Given the description of an element on the screen output the (x, y) to click on. 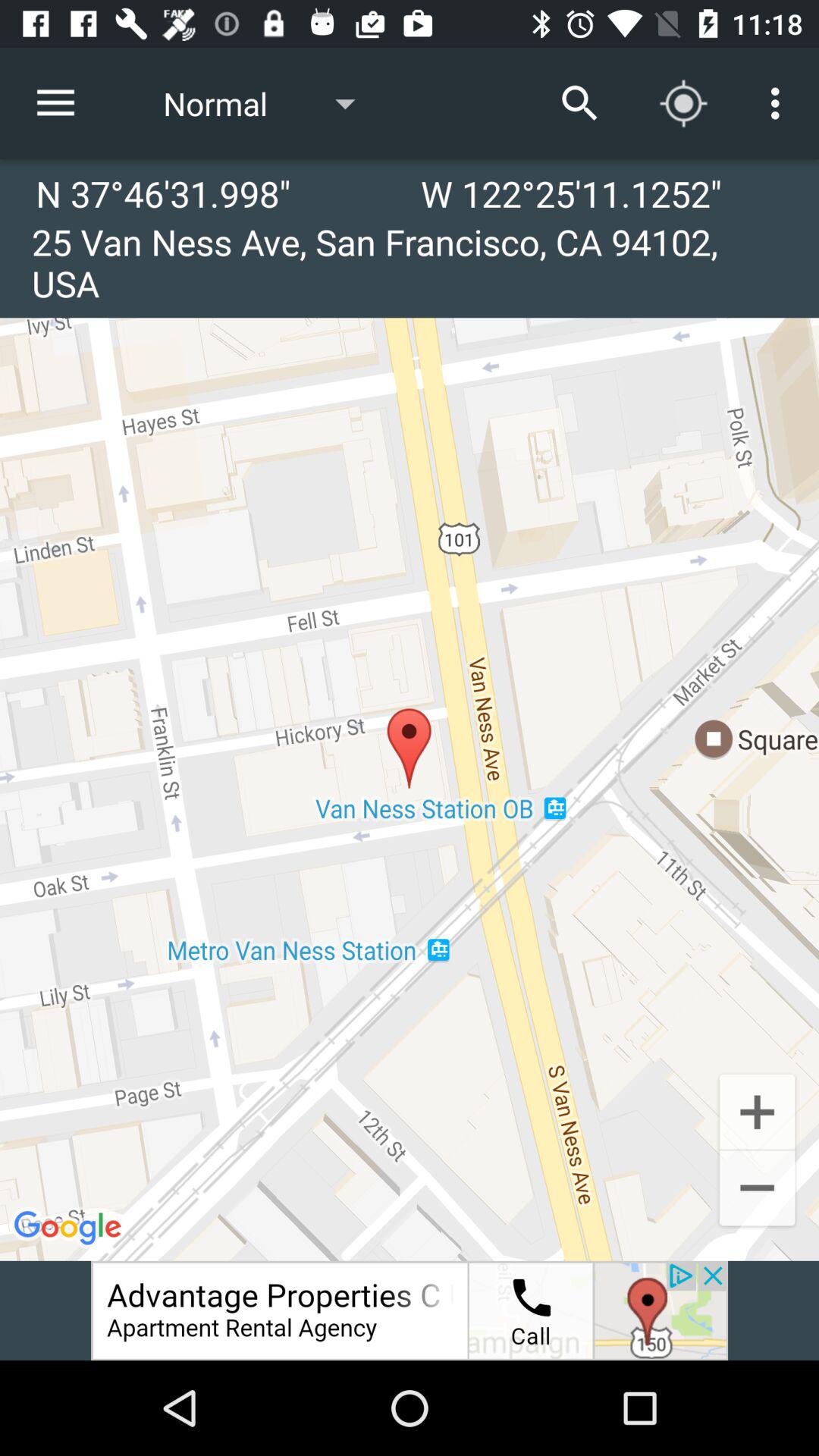
advertisement page (409, 1310)
